Given the description of an element on the screen output the (x, y) to click on. 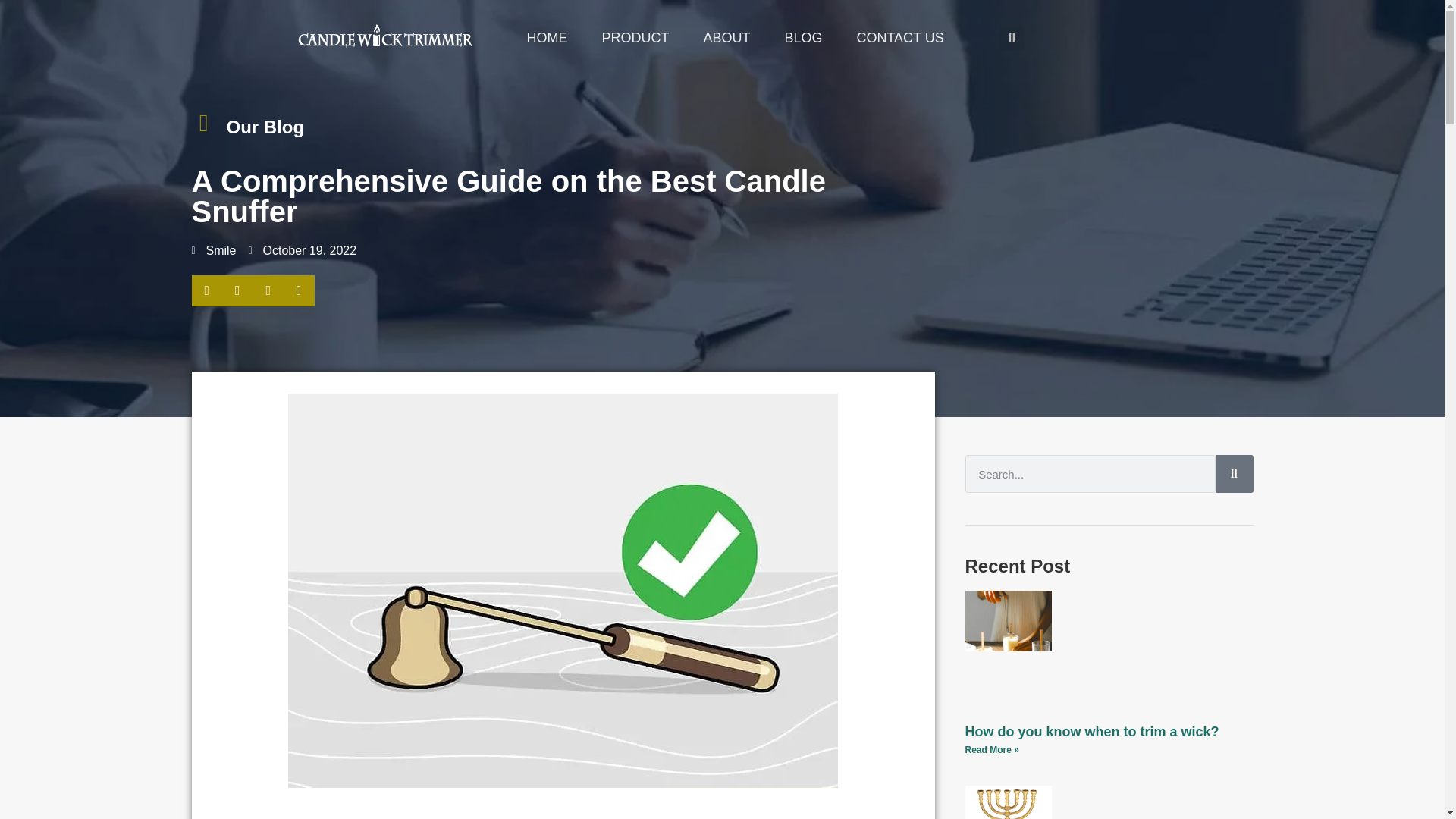
ABOUT (726, 37)
BLOG (802, 37)
CONTACT US (899, 37)
HOME (546, 37)
PRODUCT (635, 37)
